Given the description of an element on the screen output the (x, y) to click on. 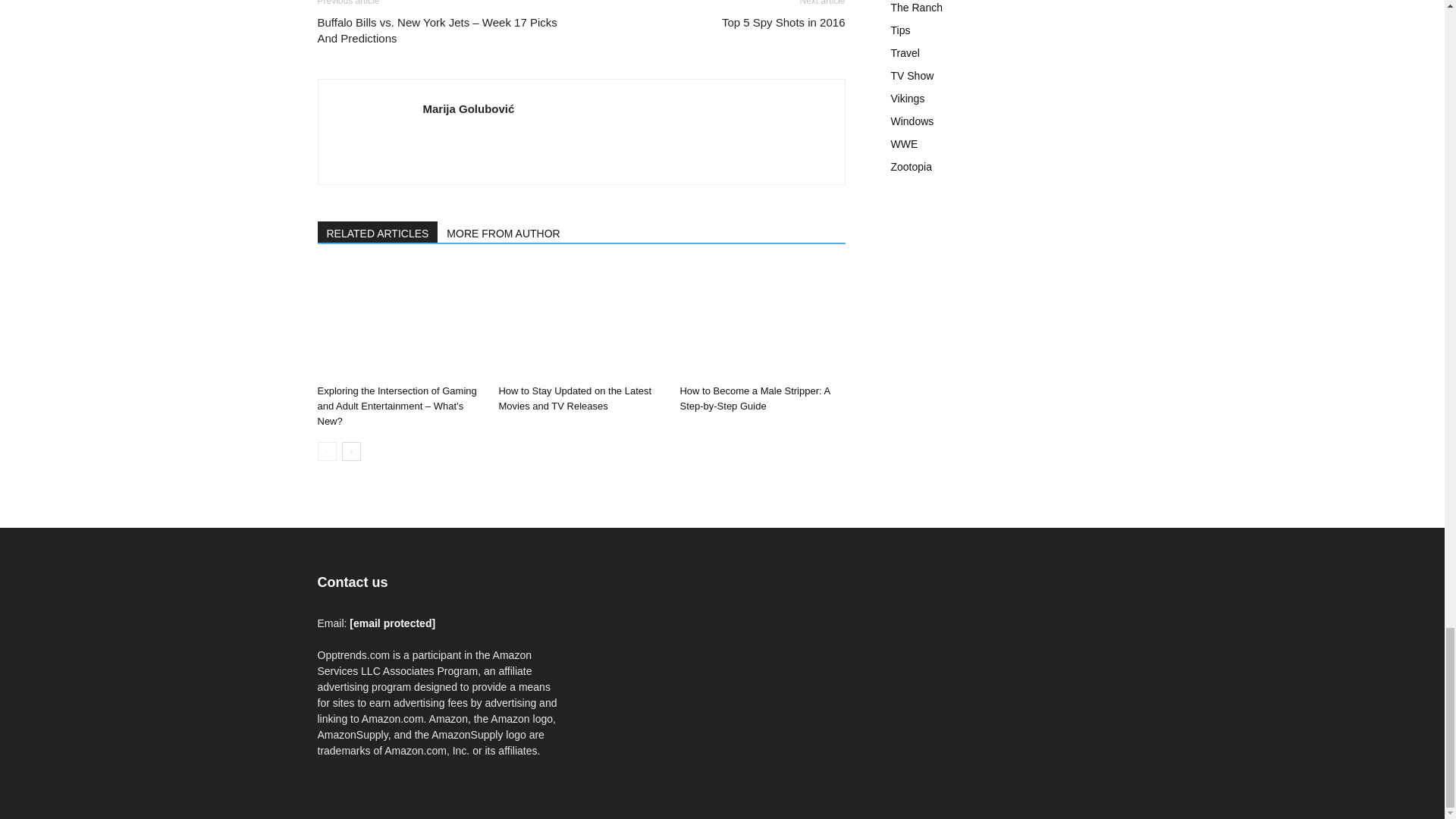
How to Stay Updated on the Latest Movies and TV Releases (580, 321)
How to Become a Male Stripper: A Step-by-Step Guide (761, 321)
How to Stay Updated on the Latest Movies and TV Releases (573, 397)
